Given the description of an element on the screen output the (x, y) to click on. 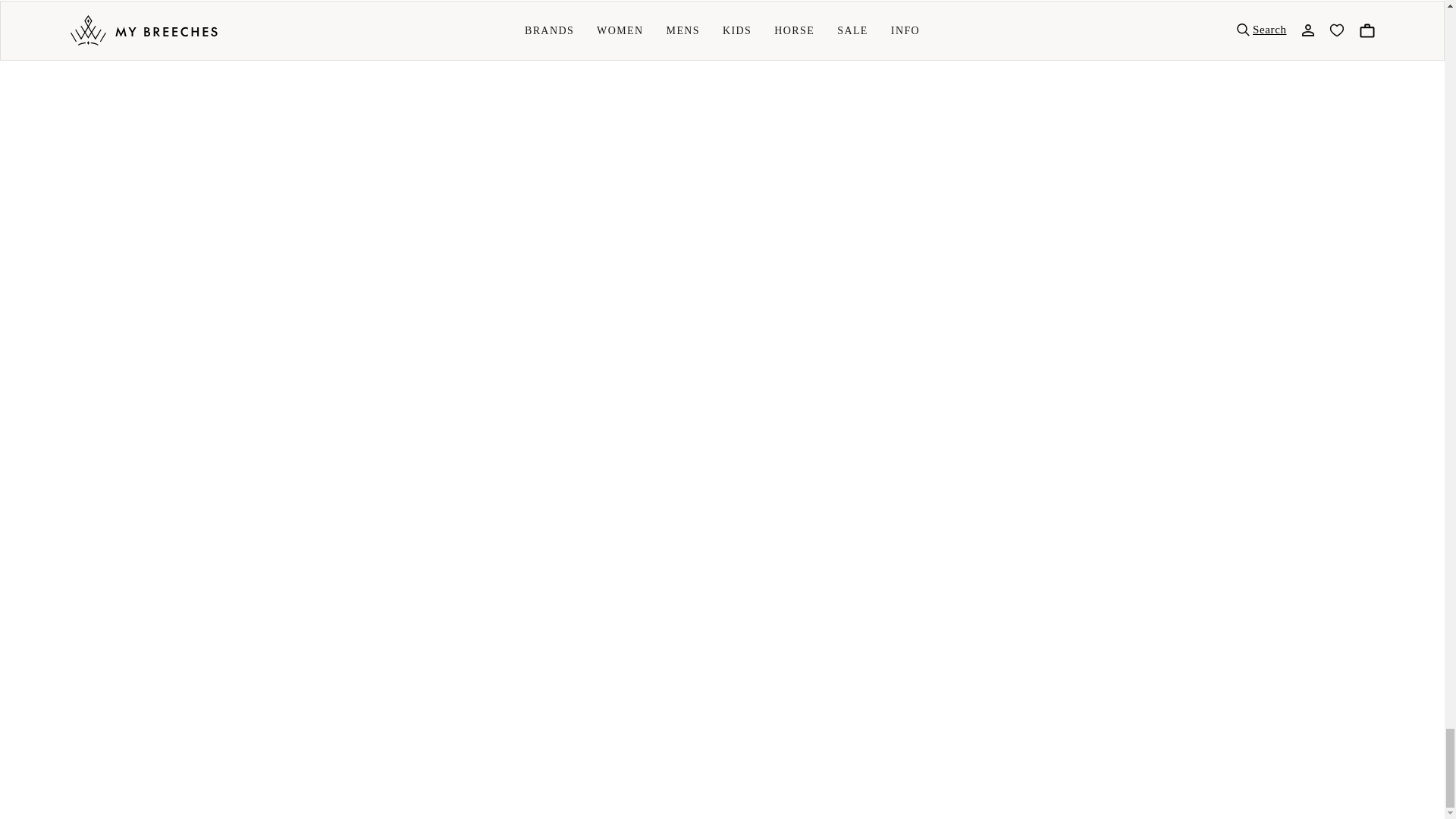
My Breeches on Twitter (129, 418)
My Breeches on Facebook (87, 418)
My Breeches on Instagram (168, 418)
